Given the description of an element on the screen output the (x, y) to click on. 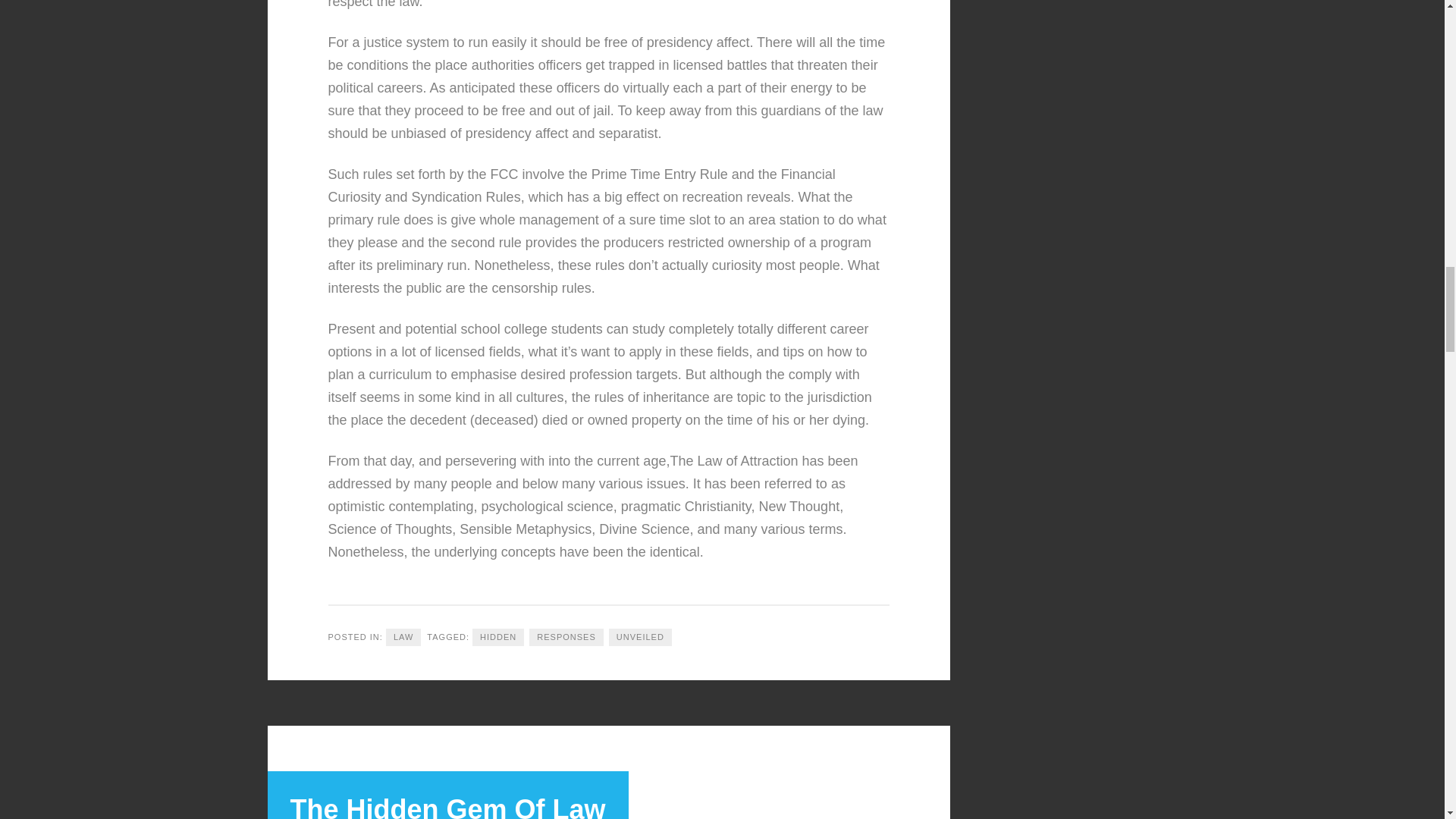
RESPONSES (565, 637)
HIDDEN (497, 637)
The Hidden Gem Of Law (447, 806)
UNVEILED (639, 637)
LAW (402, 637)
